Given the description of an element on the screen output the (x, y) to click on. 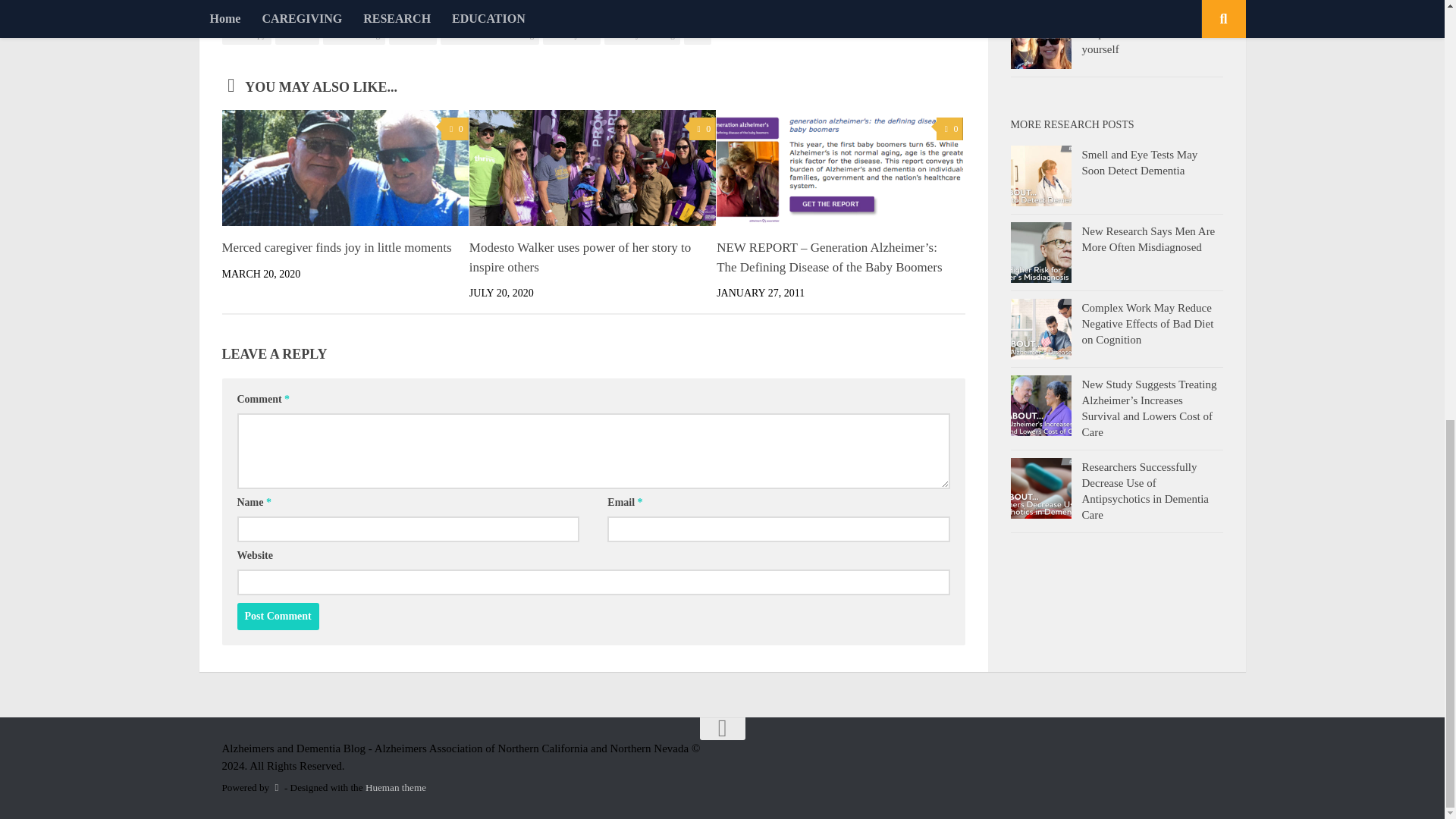
Alzheimers and art (575, 12)
Alzheimer (277, 12)
art therapy (245, 35)
Alzheimers Blog (656, 12)
Alzheimers (506, 12)
Alzhiemer's (722, 12)
art and wine auction (877, 12)
Alzheimer blog (338, 12)
Alzheimer's Association (426, 12)
Post Comment (276, 615)
art and alzheimers (792, 12)
